Given the description of an element on the screen output the (x, y) to click on. 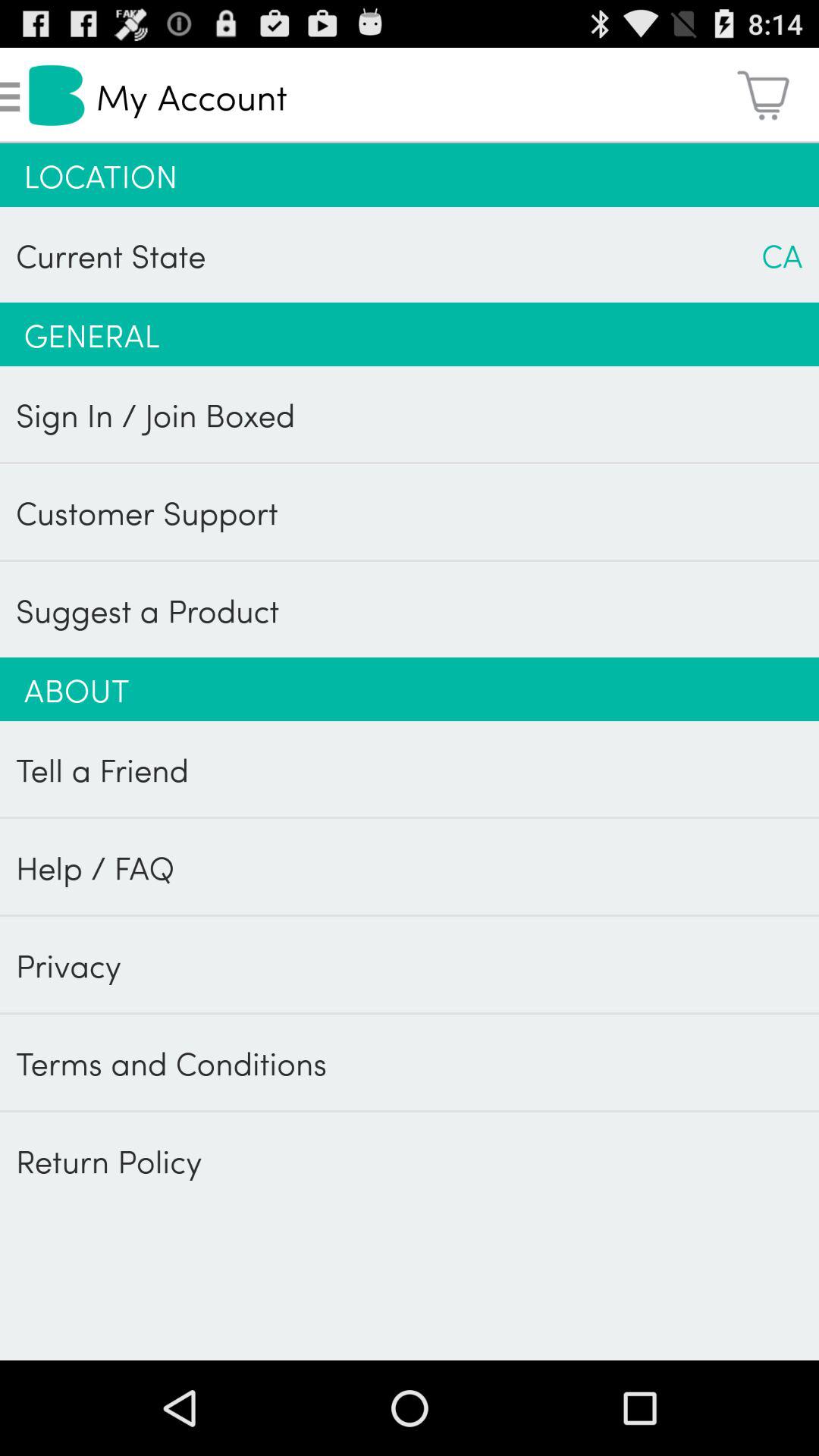
jump to about app (409, 689)
